Given the description of an element on the screen output the (x, y) to click on. 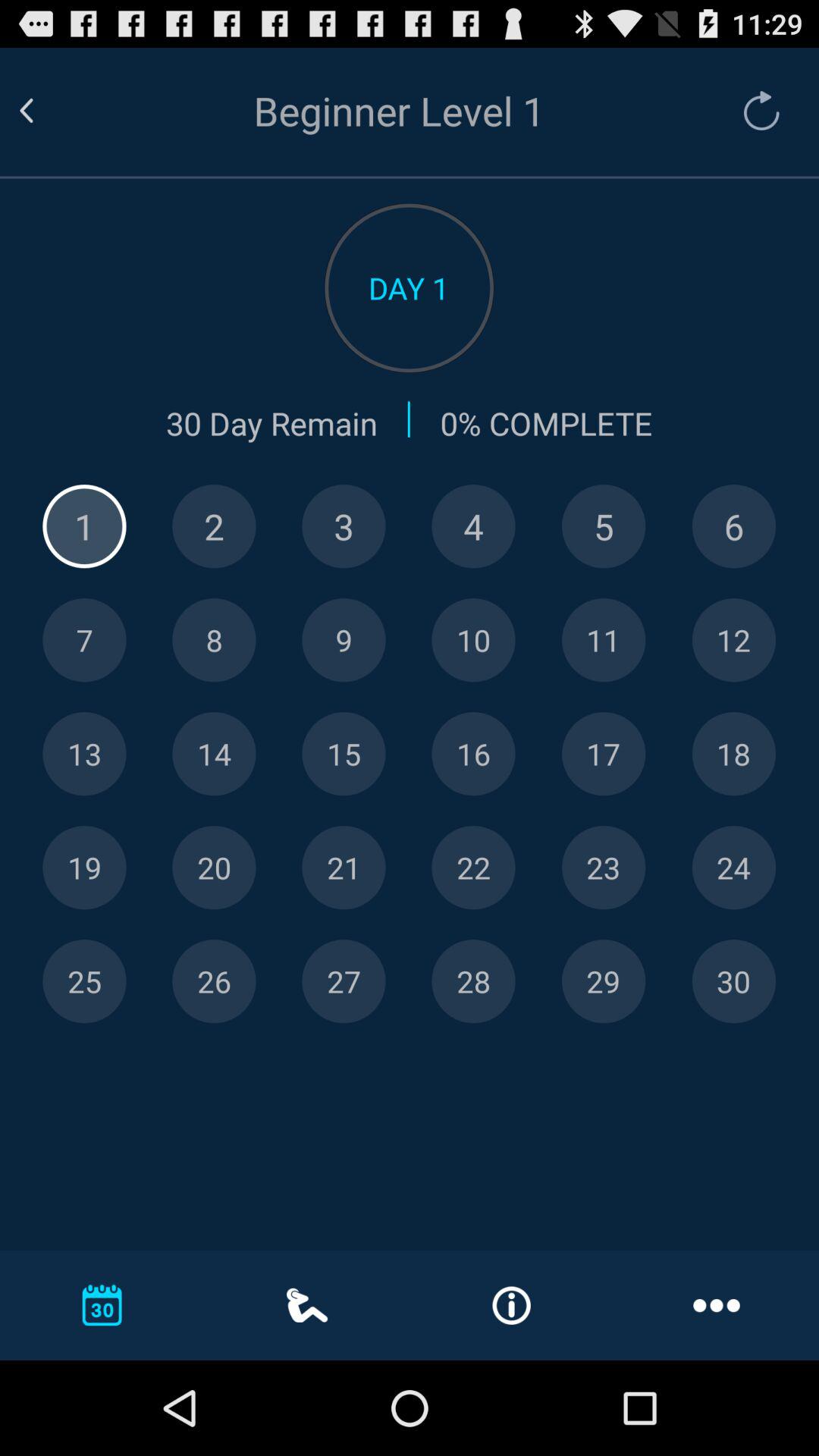
number (84, 981)
